Given the description of an element on the screen output the (x, y) to click on. 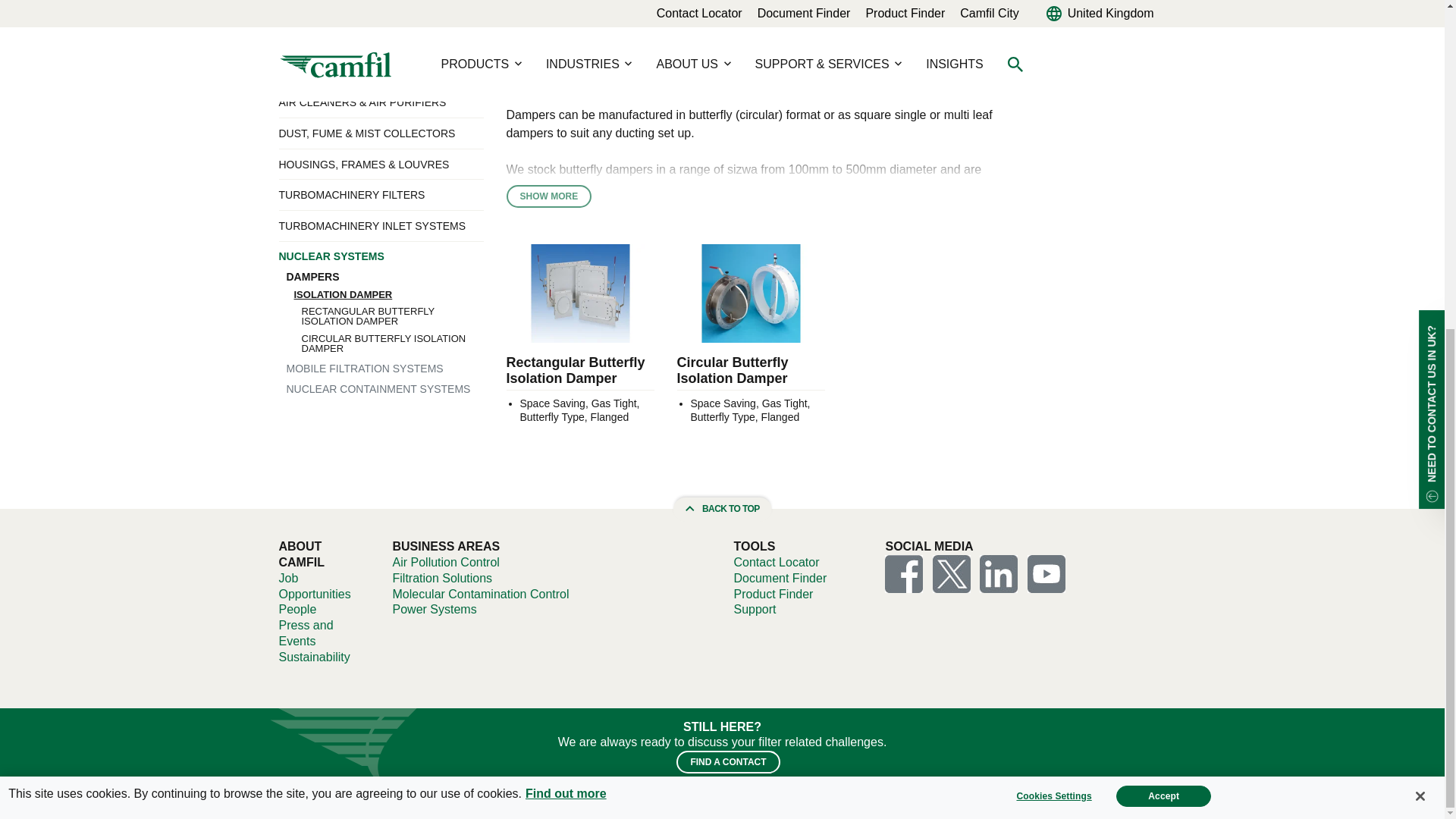
Twitter (952, 572)
tmp6A72 (998, 573)
Linkedin (998, 572)
Facebook (904, 572)
tmpCBDD (1046, 573)
tmpB33C (952, 573)
YouTube (1046, 572)
tmp4DAB (904, 573)
